Given the description of an element on the screen output the (x, y) to click on. 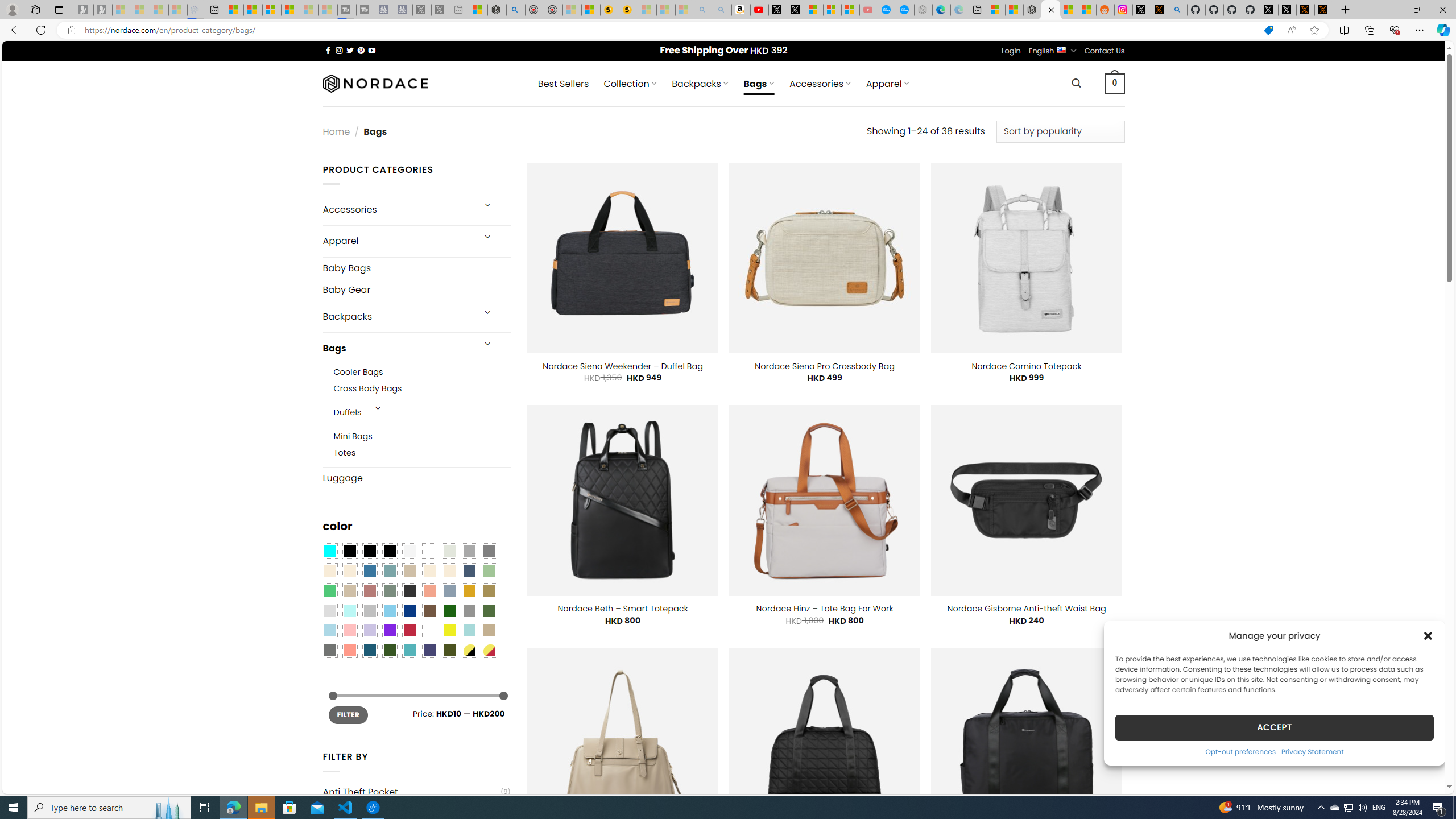
Tab actions menu (58, 9)
Army Green (449, 649)
Nordace Comino Totepack (1026, 365)
New tab - Sleeping (459, 9)
Dark Gray (468, 550)
Dark Green (449, 610)
GitHub (@github) / X (1287, 9)
App bar (728, 29)
Login (1010, 50)
Close (1442, 9)
